Given the description of an element on the screen output the (x, y) to click on. 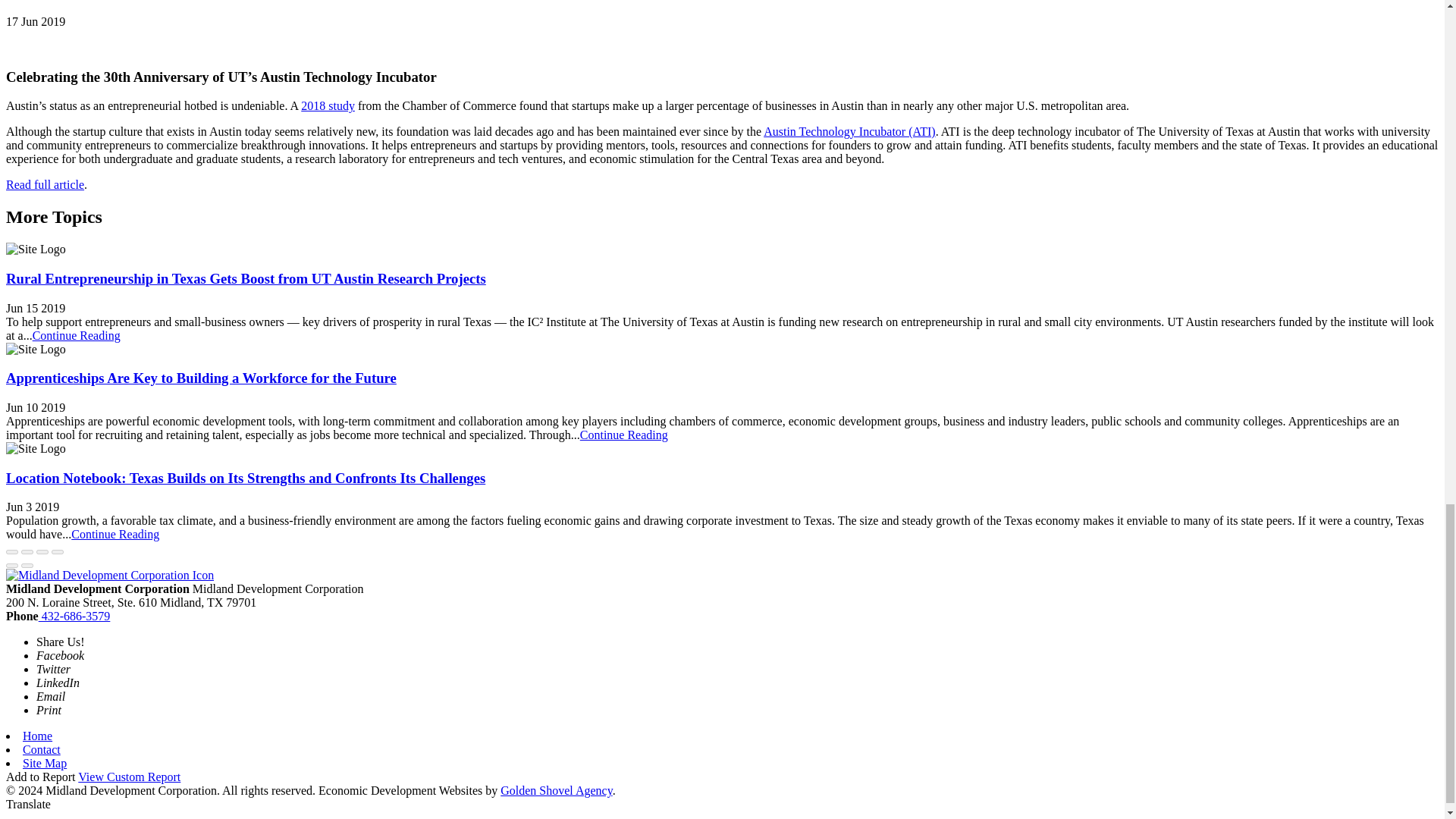
Share (27, 551)
Toggle fullscreen (42, 551)
